Given the description of an element on the screen output the (x, y) to click on. 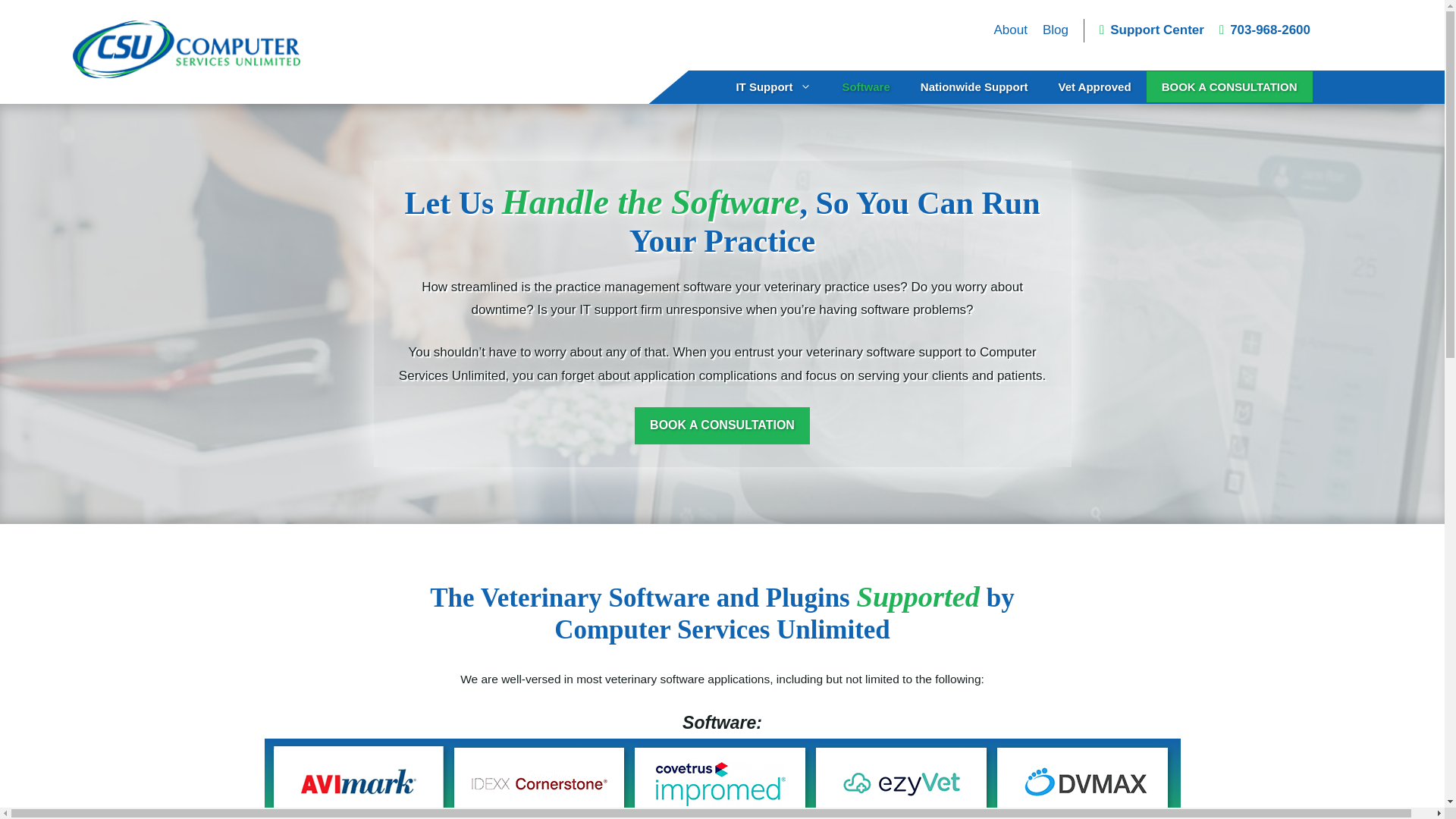
BOOK A CONSULTATION (721, 425)
Support Center (1151, 29)
BOOK A CONSULTATION (1230, 86)
703-968-2600 (1265, 29)
Software (865, 87)
Nationwide Support (974, 87)
Blog (1055, 29)
About (1009, 29)
Vet Approved (1093, 87)
IT Support (773, 87)
